Given the description of an element on the screen output the (x, y) to click on. 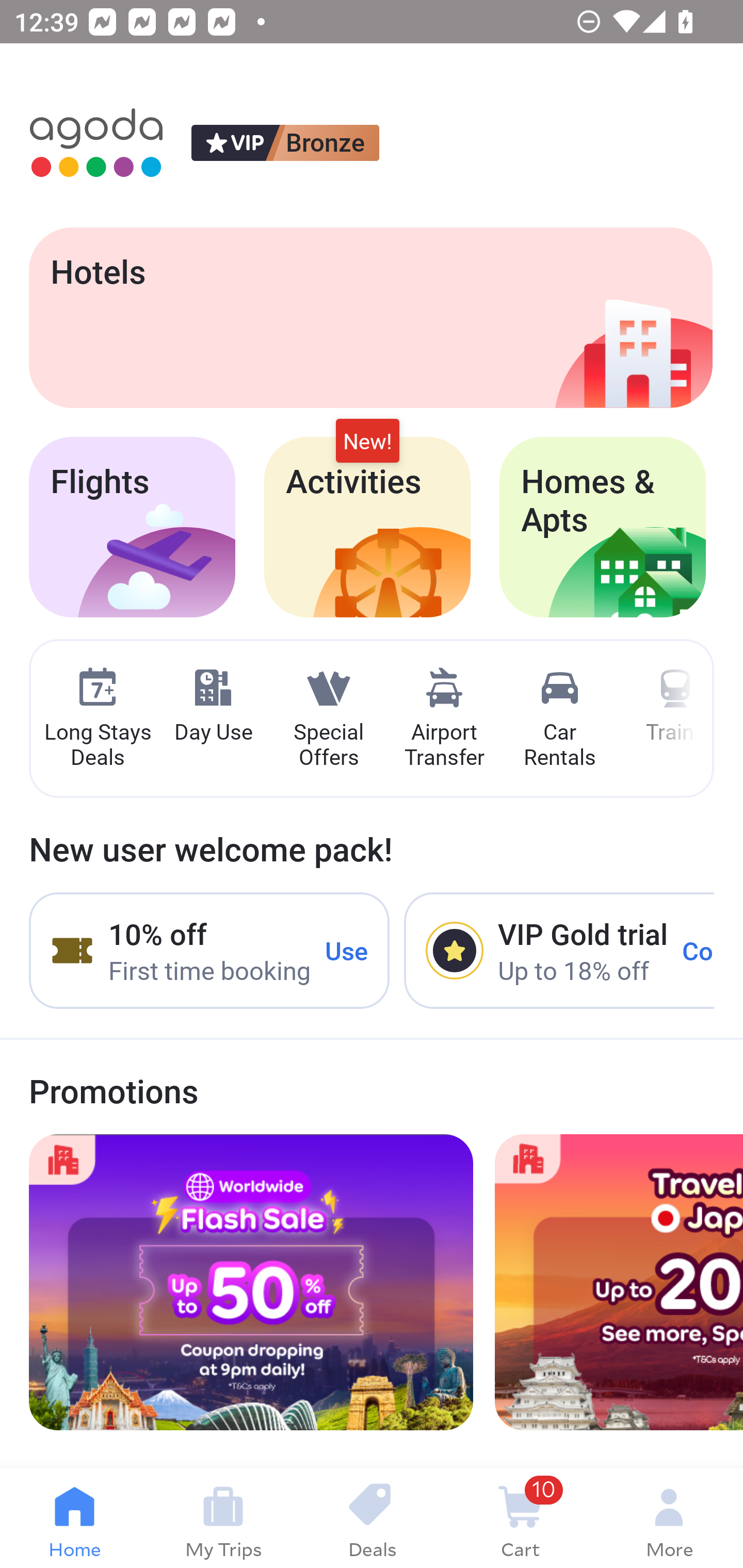
Hotels (370, 317)
New! (367, 441)
Flights (131, 527)
Activities (367, 527)
Homes & Apts (602, 527)
Day Use (213, 706)
Long Stays Deals (97, 718)
Special Offers (328, 718)
Airport Transfer (444, 718)
Car Rentals (559, 718)
Use (346, 950)
Home (74, 1518)
My Trips (222, 1518)
Deals (371, 1518)
10 Cart (519, 1518)
More (668, 1518)
